Given the description of an element on the screen output the (x, y) to click on. 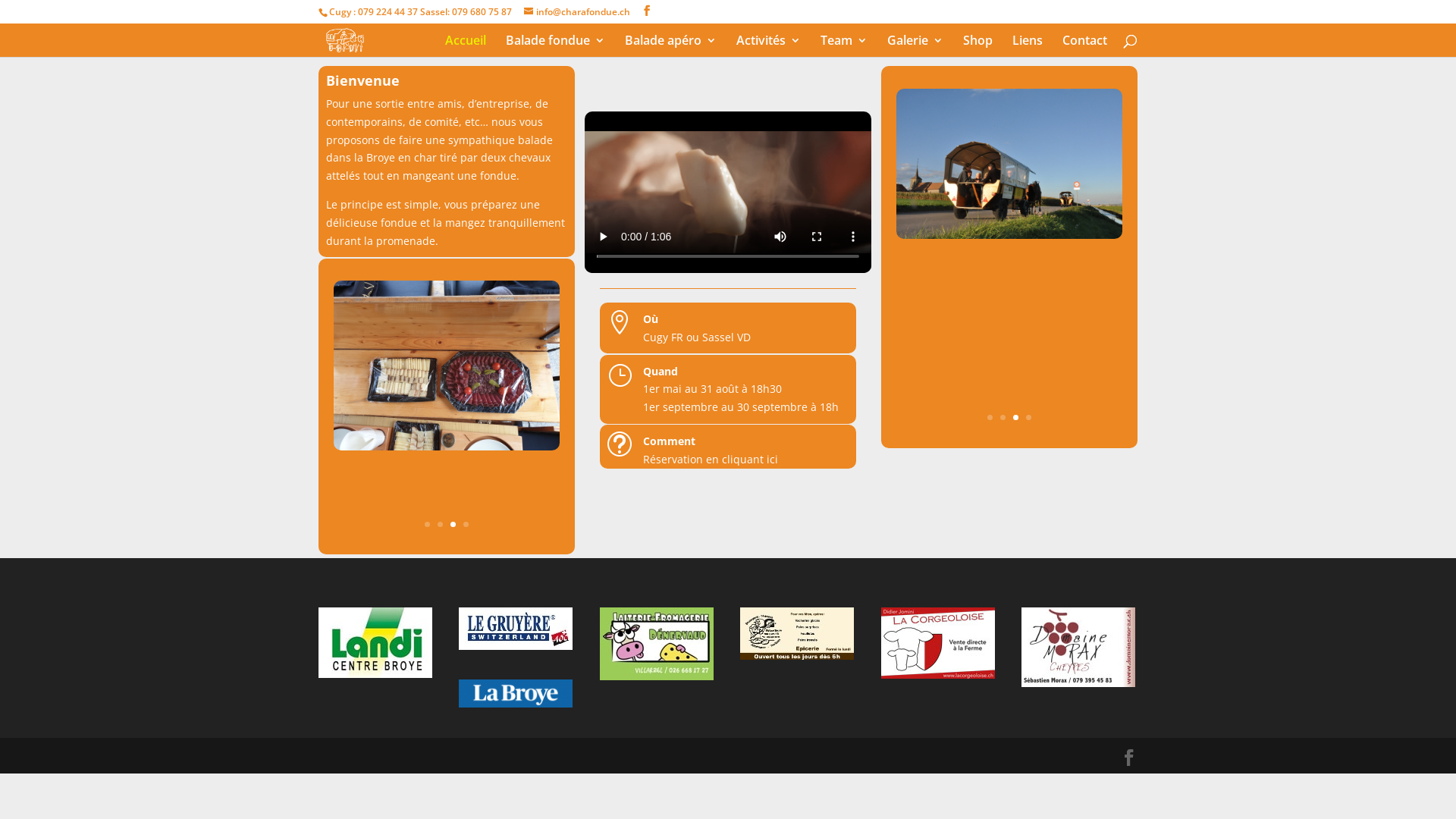
Shop Element type: text (977, 45)
Accueil Element type: text (465, 45)
1 Element type: text (989, 417)
Balade fondue Element type: text (555, 45)
Team Element type: text (843, 45)
Contact Element type: text (1084, 45)
4 Element type: text (1028, 417)
3 Element type: text (1015, 417)
t Element type: text (619, 444)
3 Element type: text (452, 524)
2 Element type: text (1002, 417)
1 Element type: text (426, 524)
Liens Element type: text (1027, 45)
info@charafondue.ch Element type: text (577, 11)
4 Element type: text (465, 524)
2 Element type: text (439, 524)
Galerie Element type: text (915, 45)
